Given the description of an element on the screen output the (x, y) to click on. 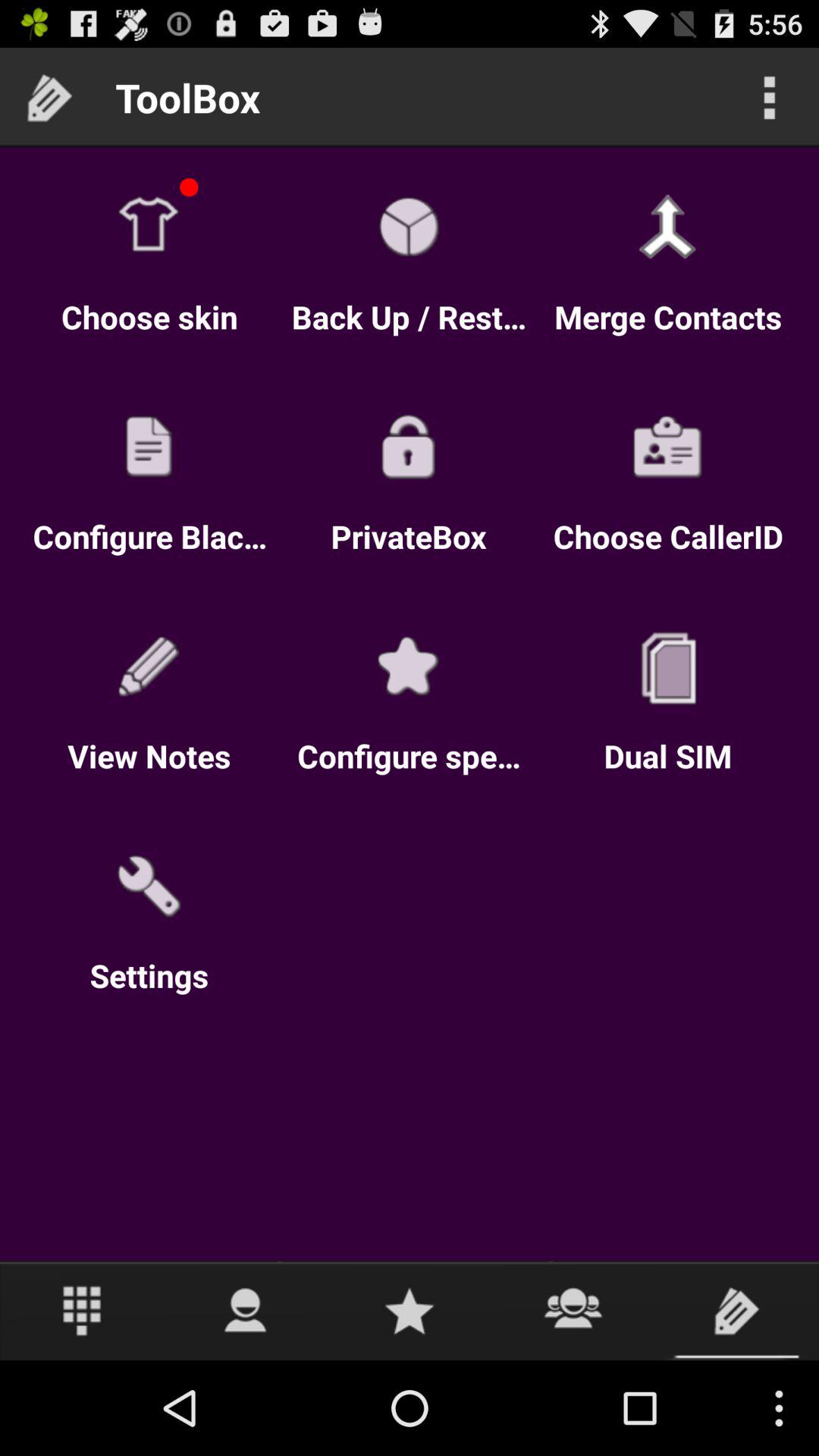
show more options (769, 97)
